Given the description of an element on the screen output the (x, y) to click on. 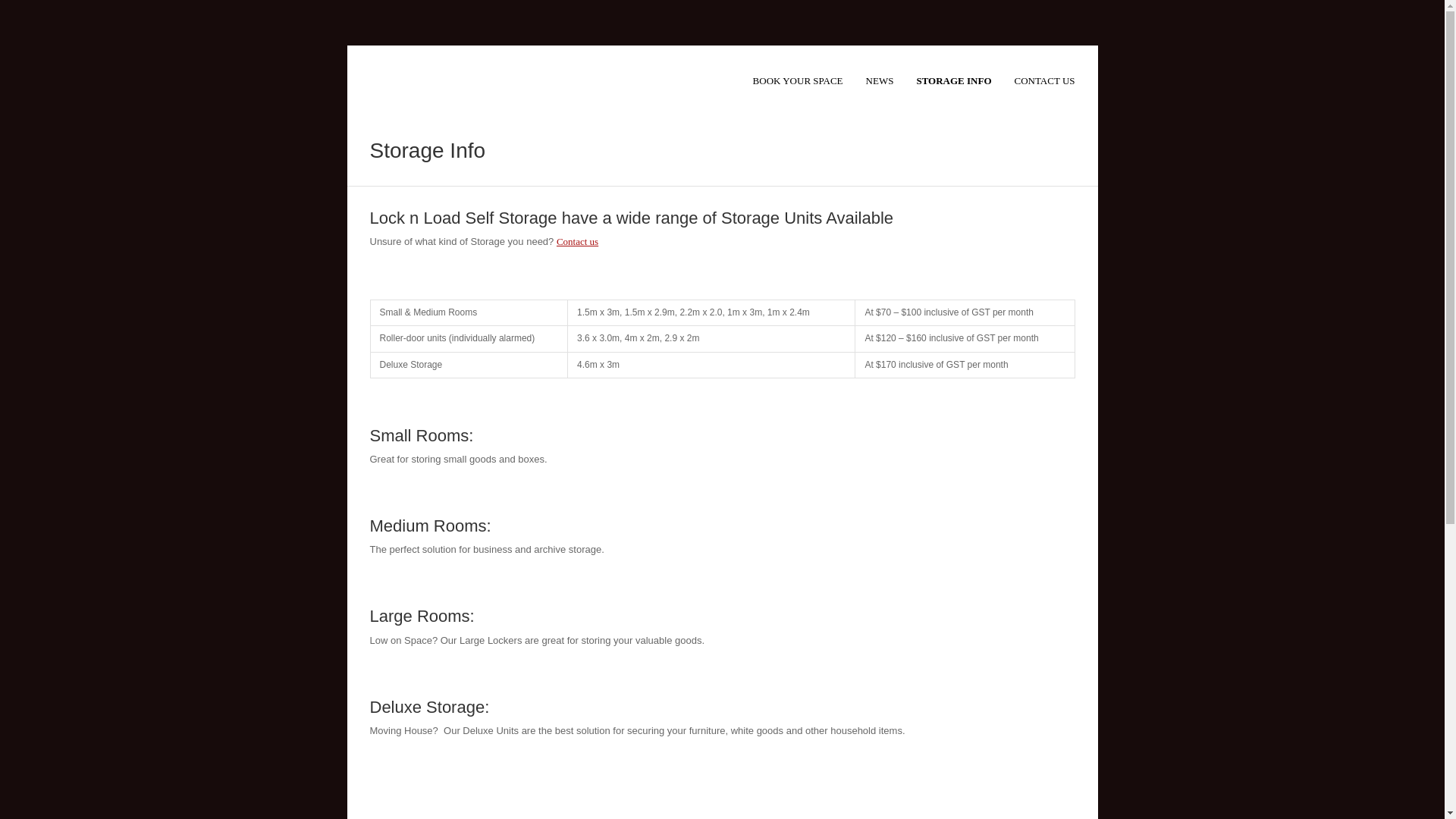
Contact us Element type: text (577, 241)
BOOK YOUR SPACE Element type: text (798, 81)
STORAGE INFO Element type: text (953, 81)
CONTACT US Element type: text (1044, 81)
NEWS Element type: text (880, 81)
